Given the description of an element on the screen output the (x, y) to click on. 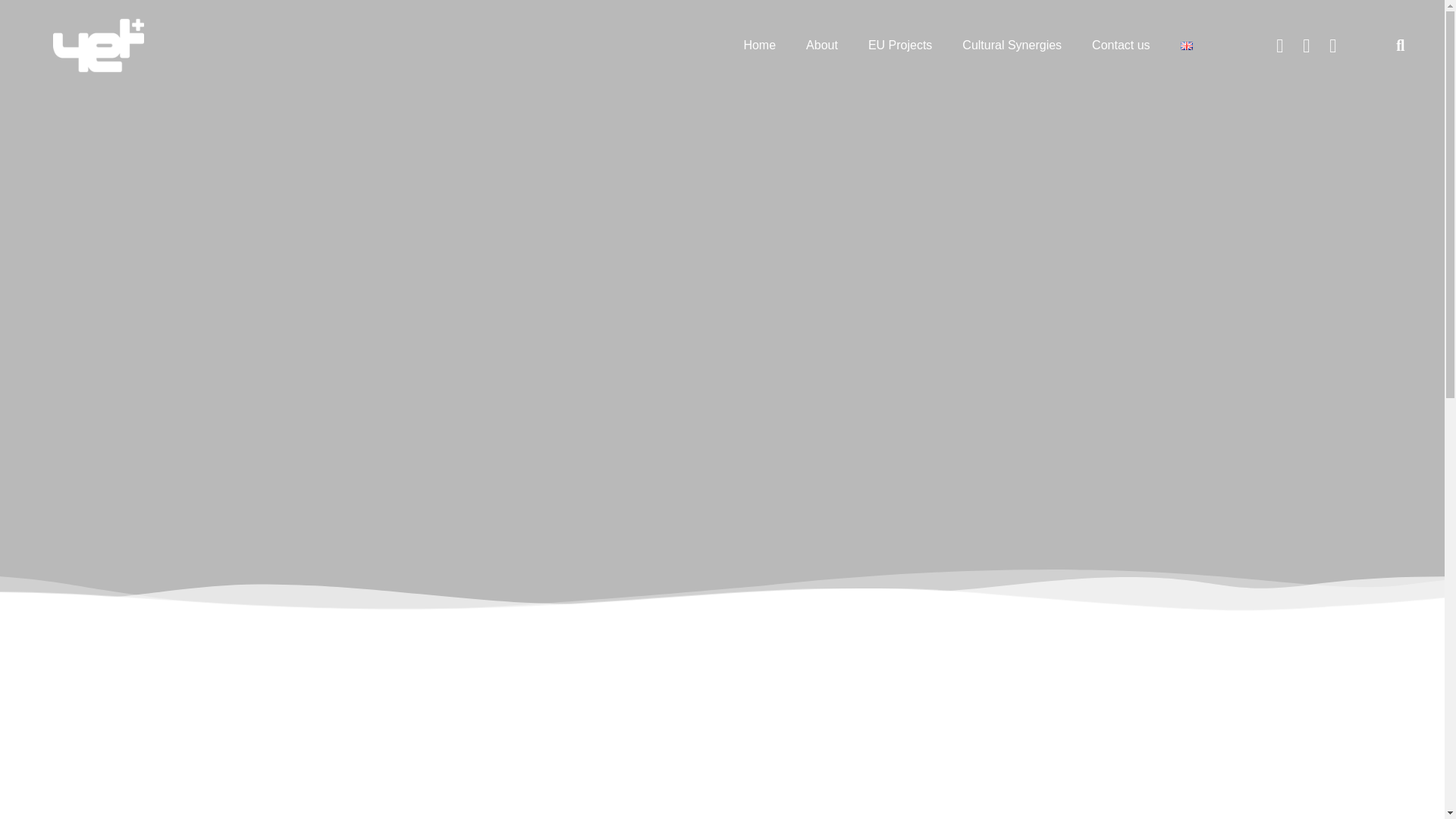
Contact us (1120, 45)
Cultural Synergies (1012, 45)
EU Projects (900, 45)
